Given the description of an element on the screen output the (x, y) to click on. 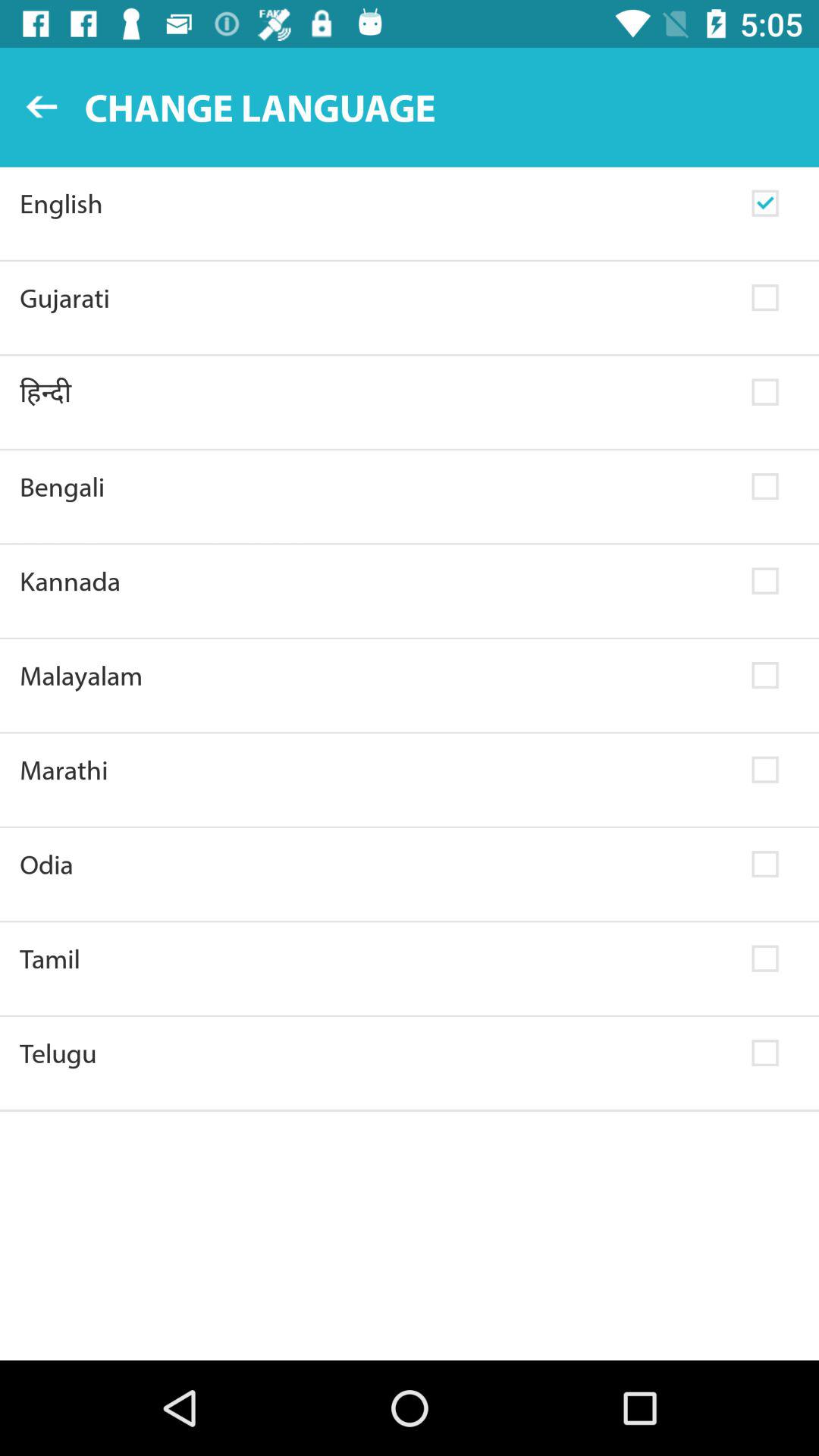
scroll until malayalam (375, 675)
